Given the description of an element on the screen output the (x, y) to click on. 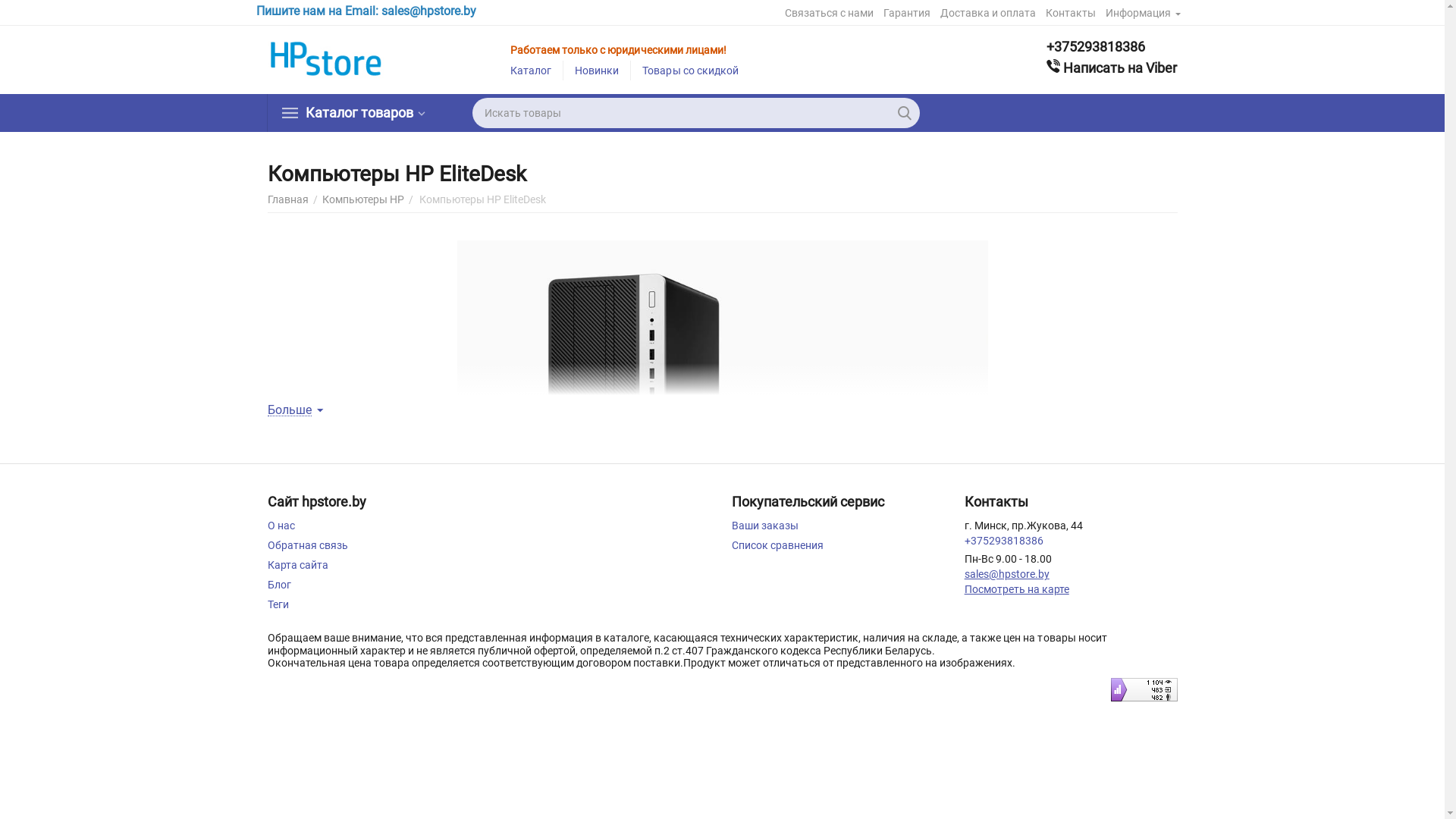
+375293818386 Element type: text (1111, 46)
HP EliteDesk 800 series Element type: hover (721, 402)
sales@hpstore.by Element type: text (1006, 573)
+375293818386 Element type: text (1003, 540)
HPstore.by Element type: hover (326, 59)
HPstore.by Element type: hover (326, 59)
